Given the description of an element on the screen output the (x, y) to click on. 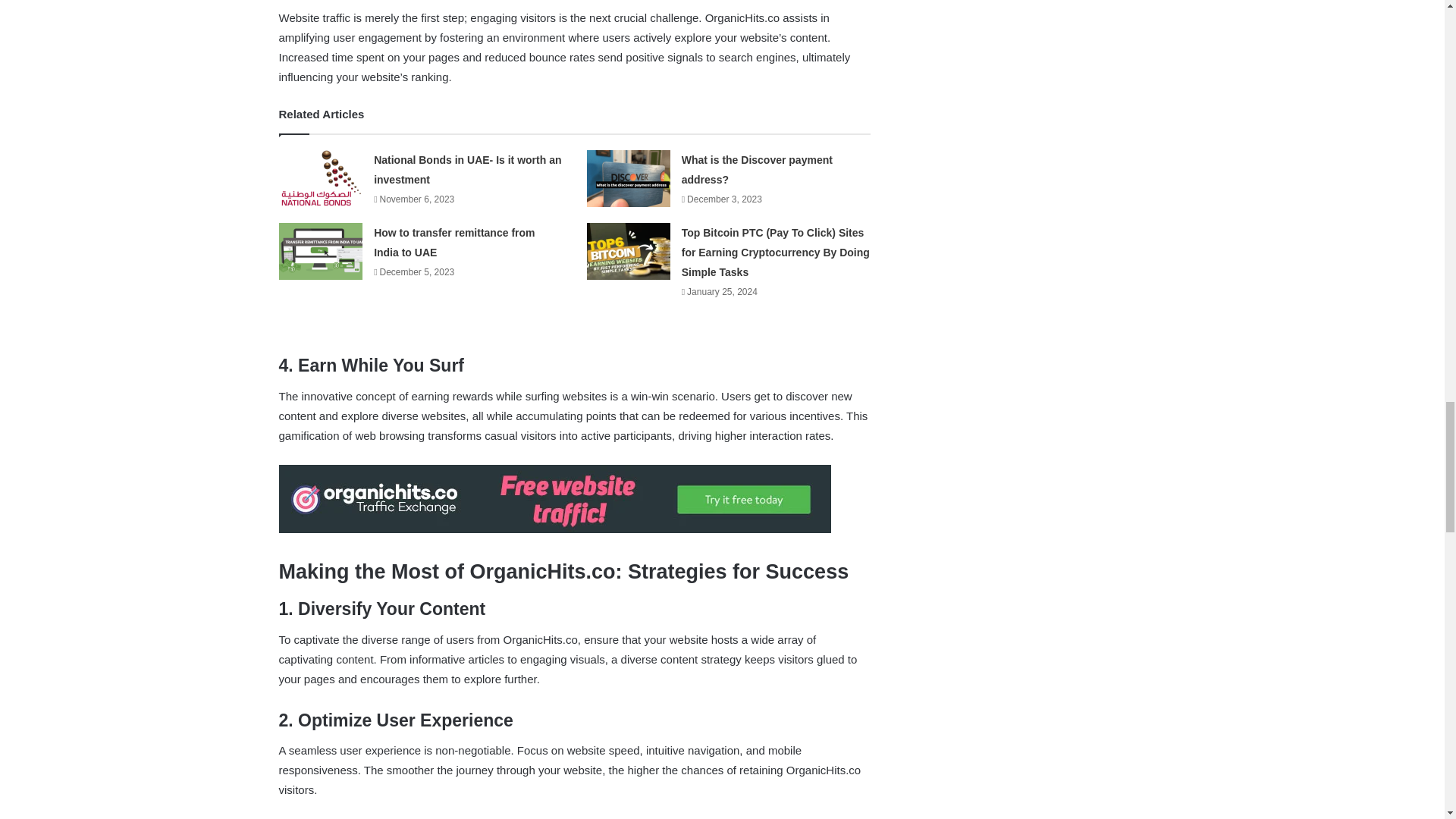
How to transfer remittance from India to UAE (454, 242)
Organic Hits (555, 528)
What is the Discover payment address? (756, 169)
National Bonds in UAE- Is it worth an investment (467, 169)
